Given the description of an element on the screen output the (x, y) to click on. 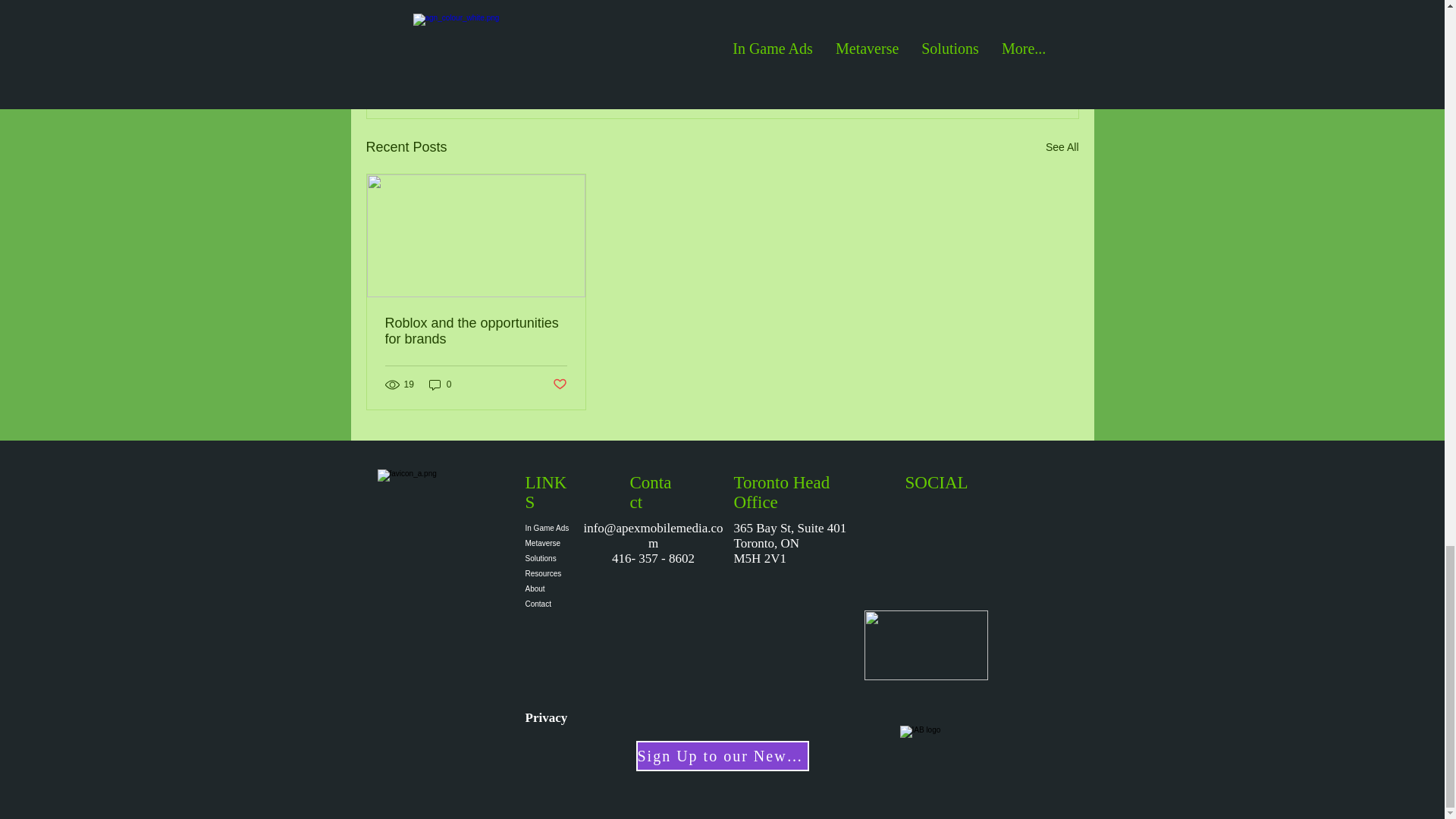
Metaverse (548, 543)
Post not marked as liked (995, 64)
In Game Ads (548, 528)
0 (440, 383)
Post not marked as liked (558, 384)
Roblox and the opportunities for brands (476, 331)
See All (1061, 147)
